Given the description of an element on the screen output the (x, y) to click on. 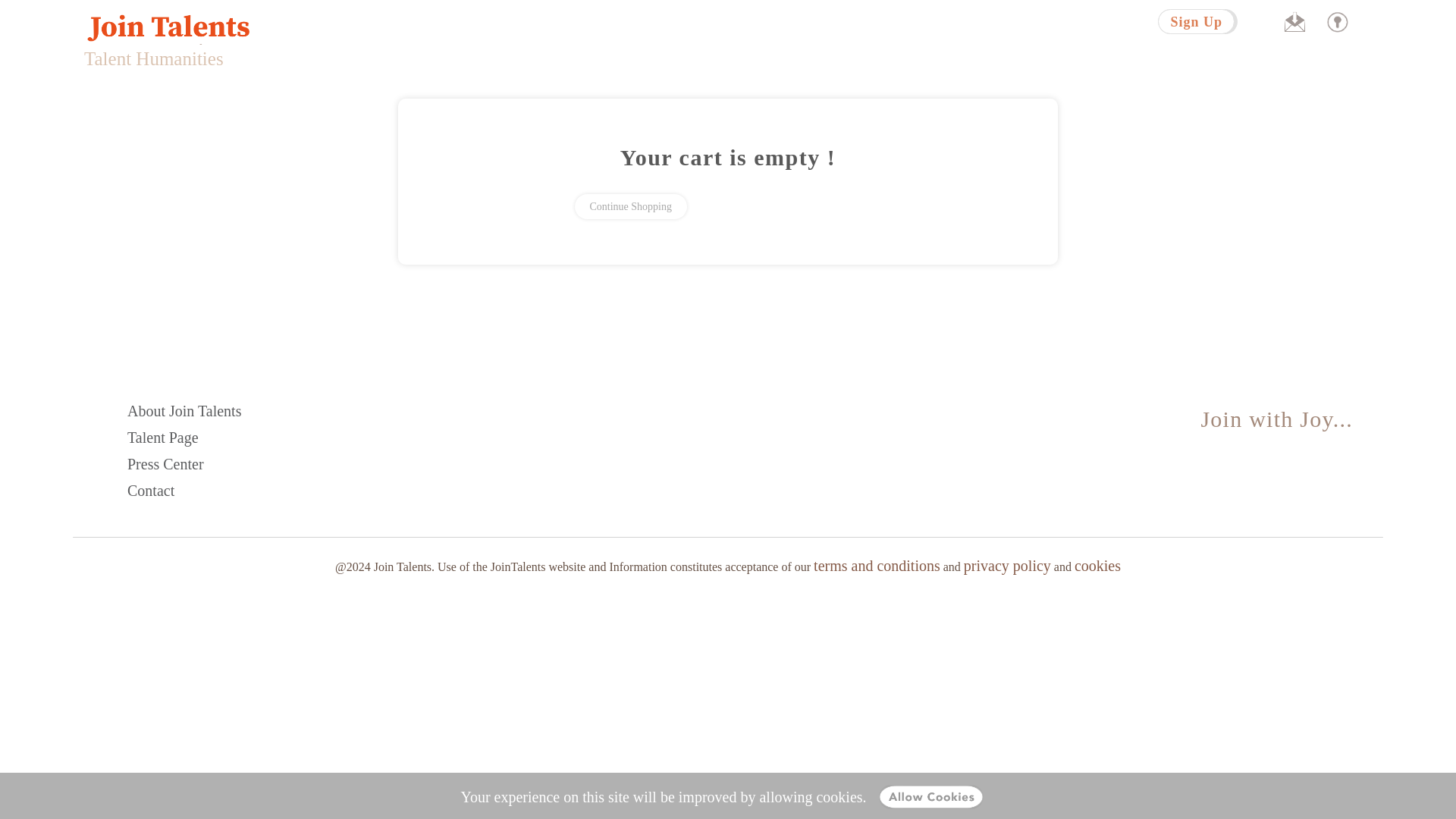
Newsletter Subscription (1294, 21)
User Login (1337, 21)
Talent Page (163, 437)
Sign Up (1197, 21)
About Join Talents (184, 410)
Press Center (165, 463)
Continue Shopping (631, 206)
